Given the description of an element on the screen output the (x, y) to click on. 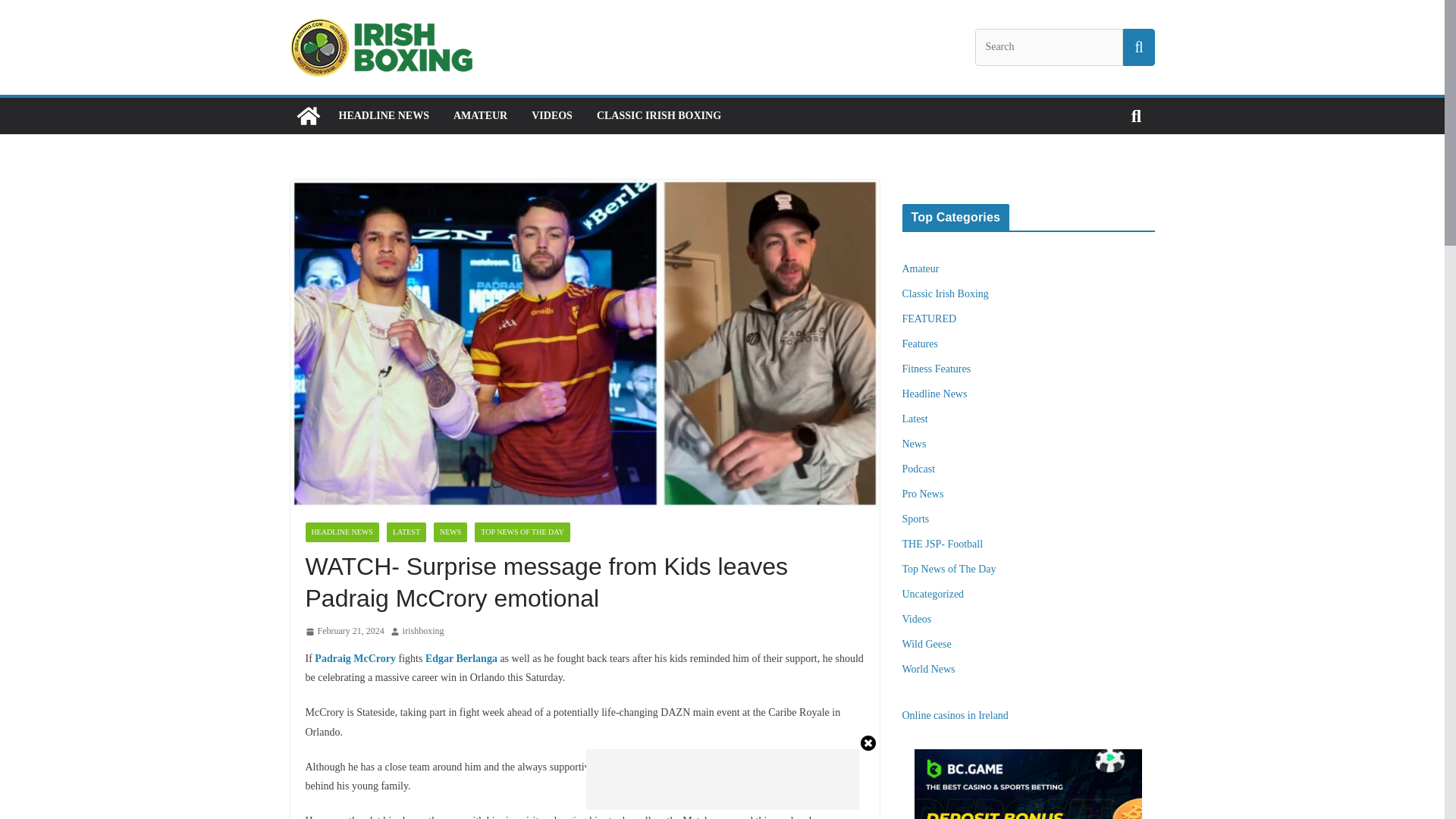
HEADLINE NEWS (382, 115)
Padraig McCrory (355, 658)
4:15 pm (344, 631)
Irish Boxing (307, 115)
NEWS (450, 532)
CLASSIC IRISH BOXING (658, 115)
Headline News (935, 393)
February 21, 2024 (344, 631)
TOP NEWS OF THE DAY (521, 532)
AMATEUR (479, 115)
Edgar Berlanga (461, 658)
irishboxing (423, 631)
Amateur (920, 268)
LATEST (406, 532)
FEATURED (929, 318)
